Given the description of an element on the screen output the (x, y) to click on. 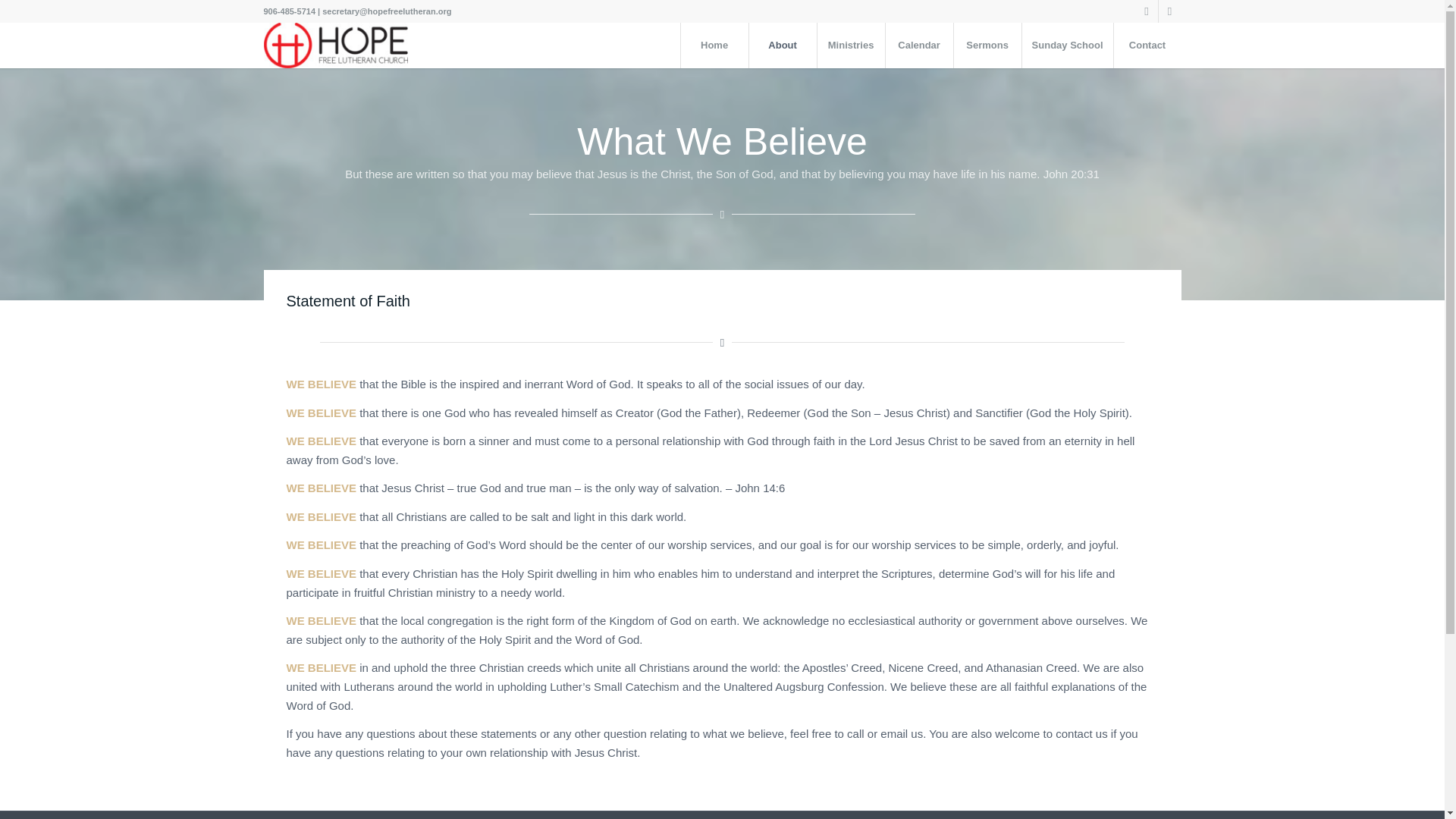
Sermons (987, 44)
Instagram (1169, 11)
Sunday School (1067, 44)
About (782, 44)
Facebook (1146, 11)
Ministries (850, 44)
Contact (1146, 44)
Calendar (919, 44)
Home (713, 44)
